Given the description of an element on the screen output the (x, y) to click on. 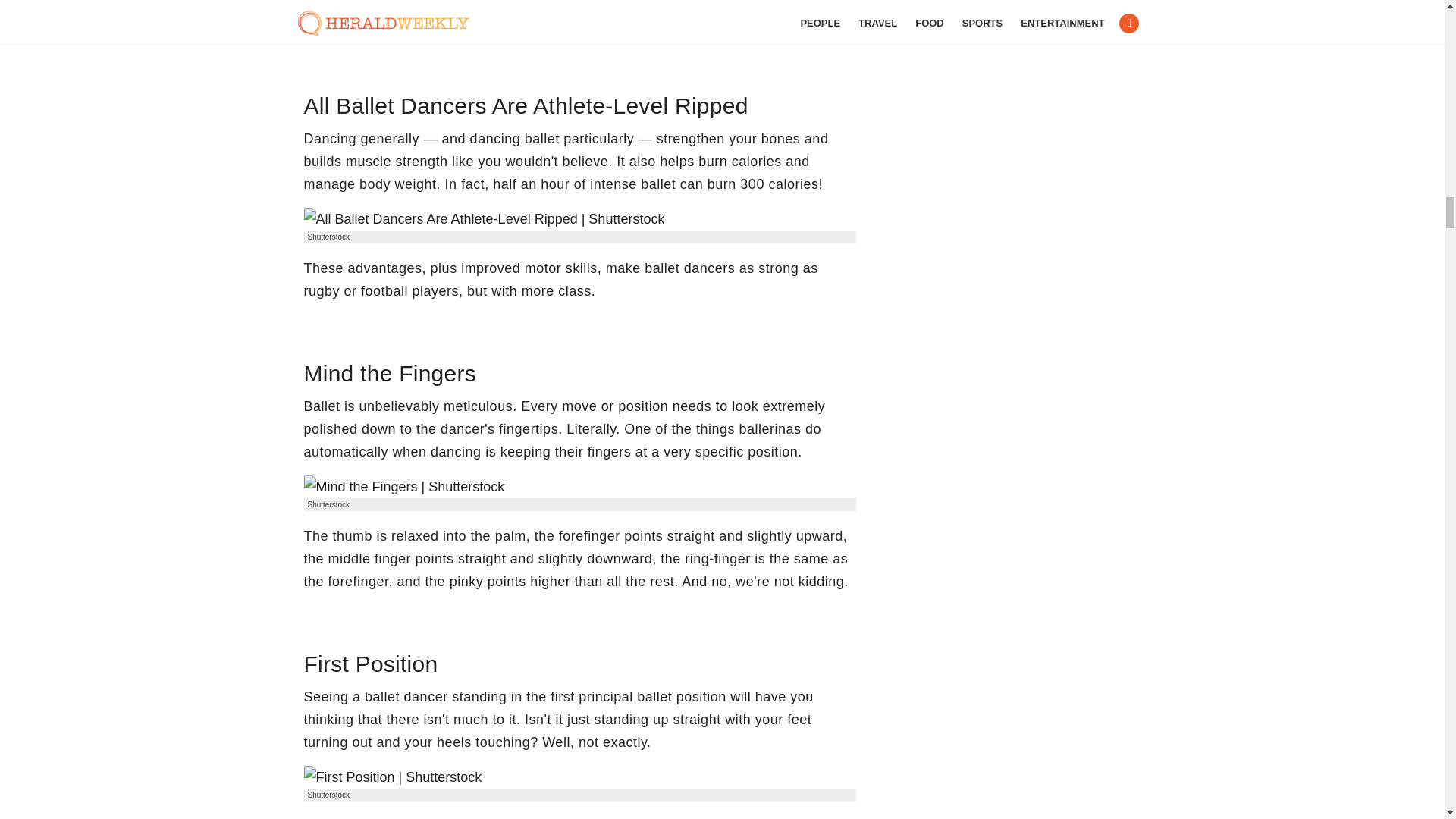
First Position (391, 776)
Mind the Fingers (402, 486)
All Ballet Dancers Are Athlete-Level Ripped (482, 219)
